Given the description of an element on the screen output the (x, y) to click on. 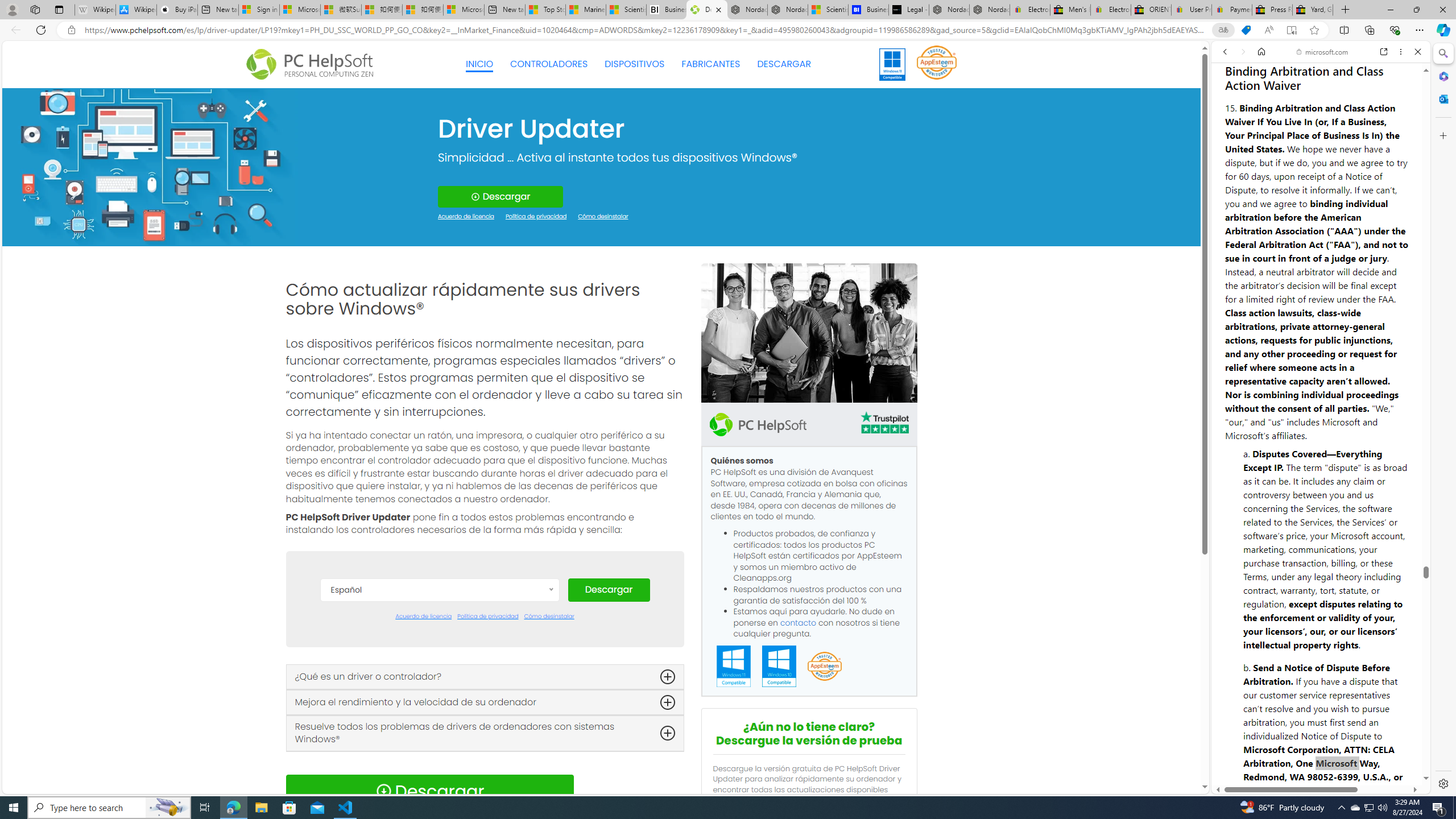
FABRICANTES (711, 64)
DISPOSITIVOS (634, 64)
